Given the description of an element on the screen output the (x, y) to click on. 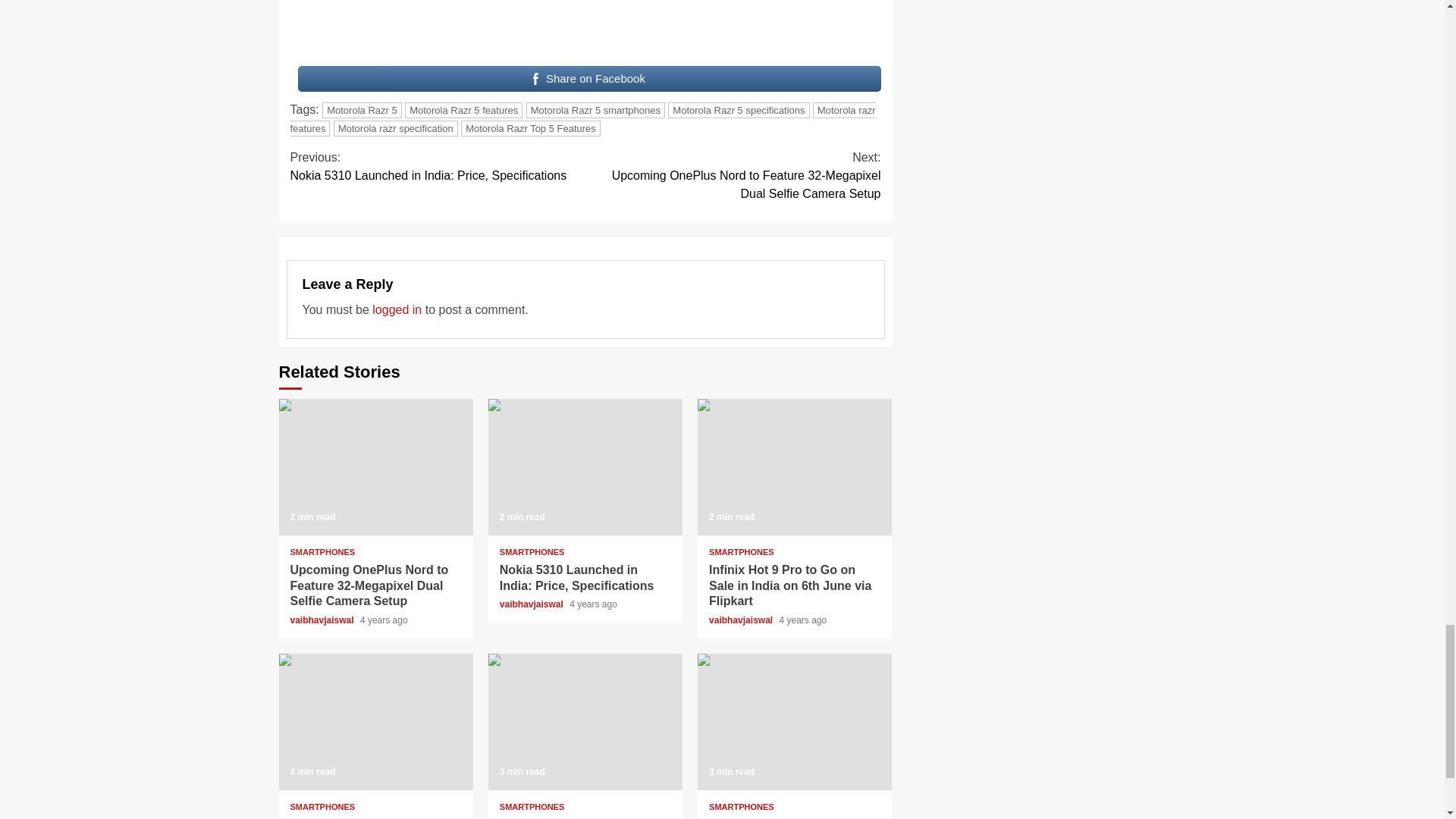
logged in (397, 309)
Motorola Razr 5 smartphones (595, 109)
Nokia 5310 Launched in India: Price, Specifications (576, 577)
vaibhavjaiswal (532, 603)
Share on Facebook (588, 78)
Motorola razr specification (395, 128)
Motorola razr features (582, 119)
